Given the description of an element on the screen output the (x, y) to click on. 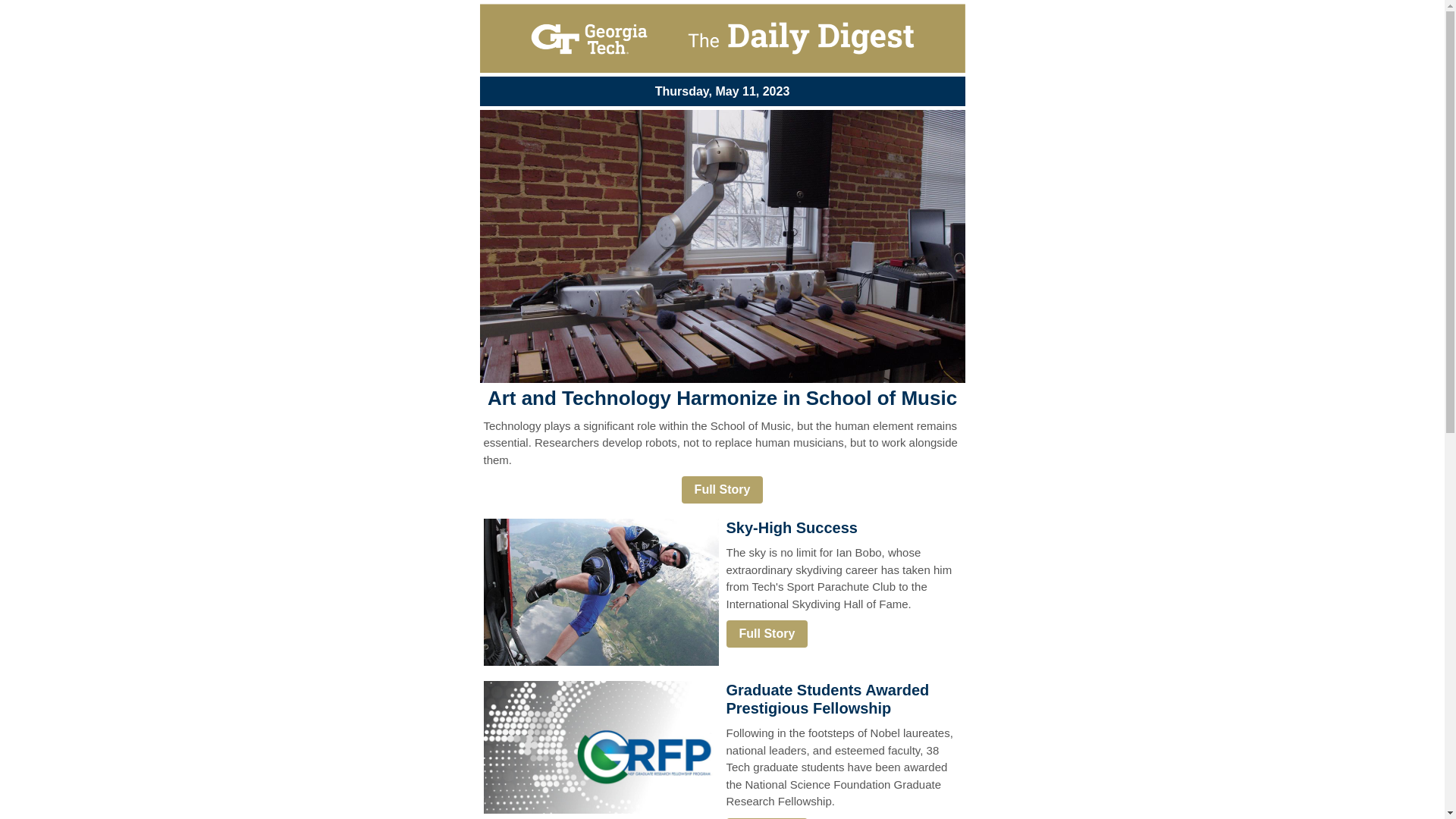
Sky-High Success (791, 527)
National Science Foundation (601, 746)
Full Story (721, 489)
Alternate text (721, 38)
Full Story (767, 633)
Ian Bobo (601, 591)
Art and Technology Harmonize in School of Music (721, 397)
Graduate Students Awarded Prestigious Fellowship (828, 698)
